Given the description of an element on the screen output the (x, y) to click on. 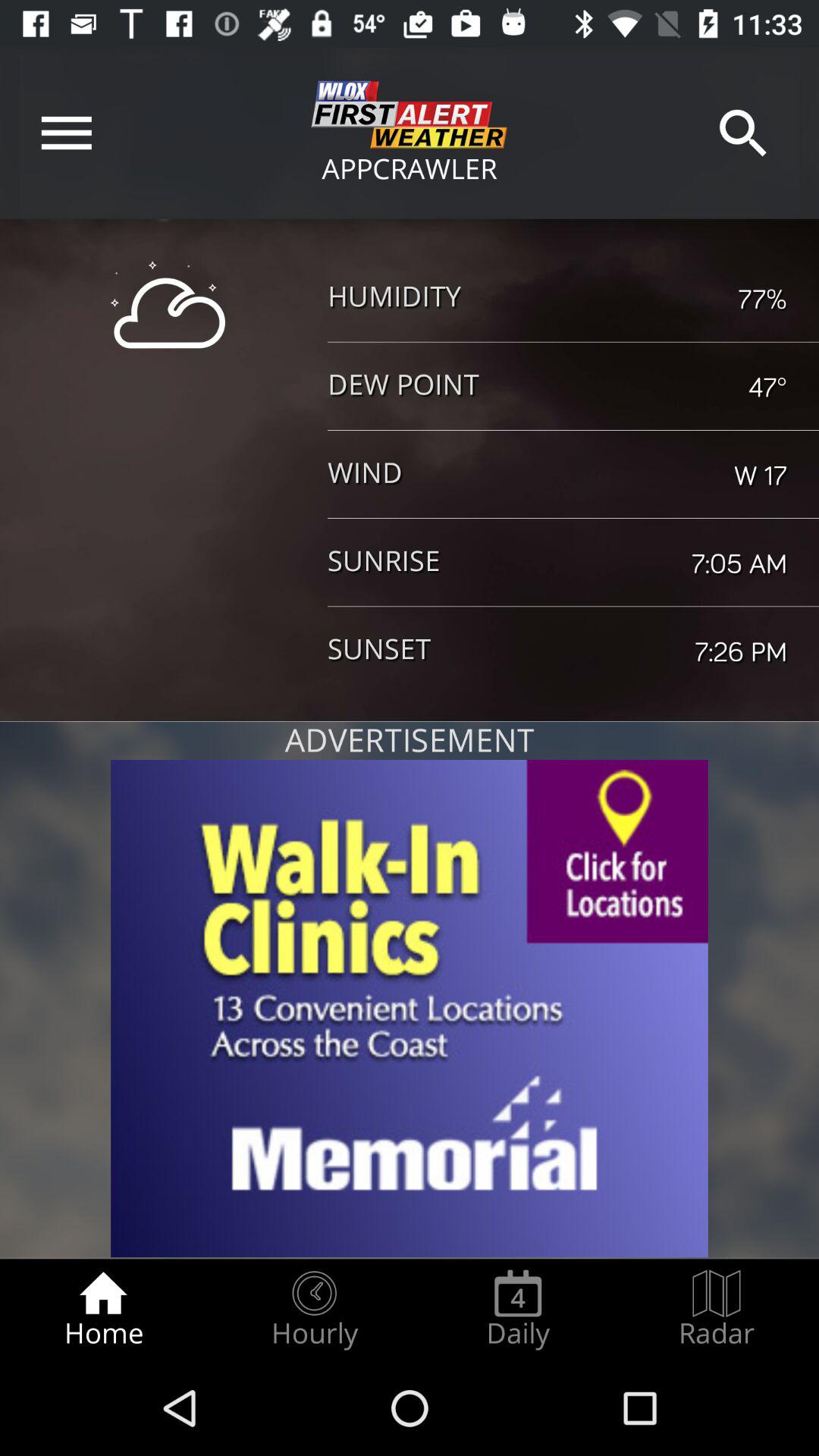
click radio button next to home radio button (314, 1309)
